Given the description of an element on the screen output the (x, y) to click on. 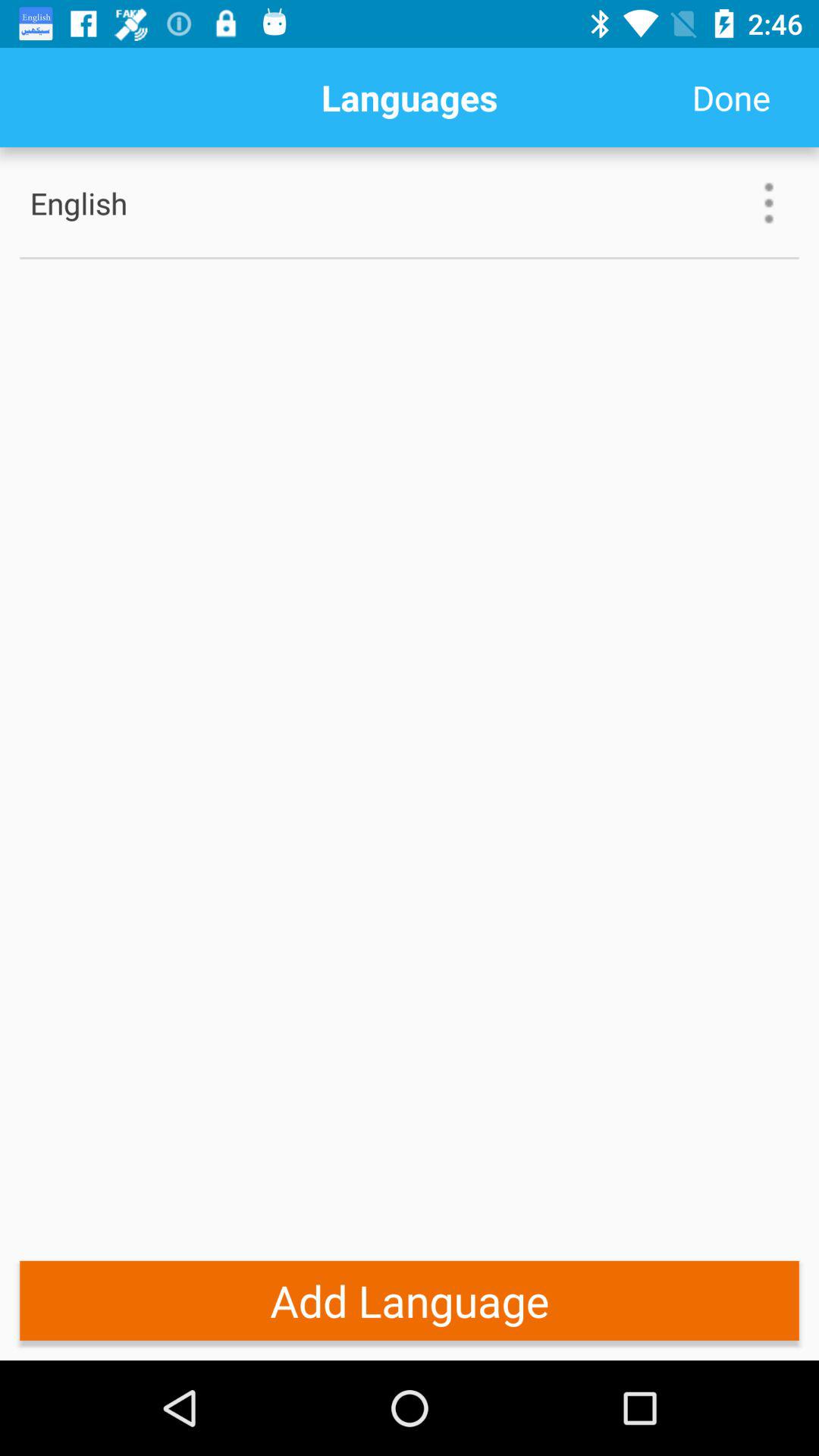
launch add language item (409, 1300)
